Given the description of an element on the screen output the (x, y) to click on. 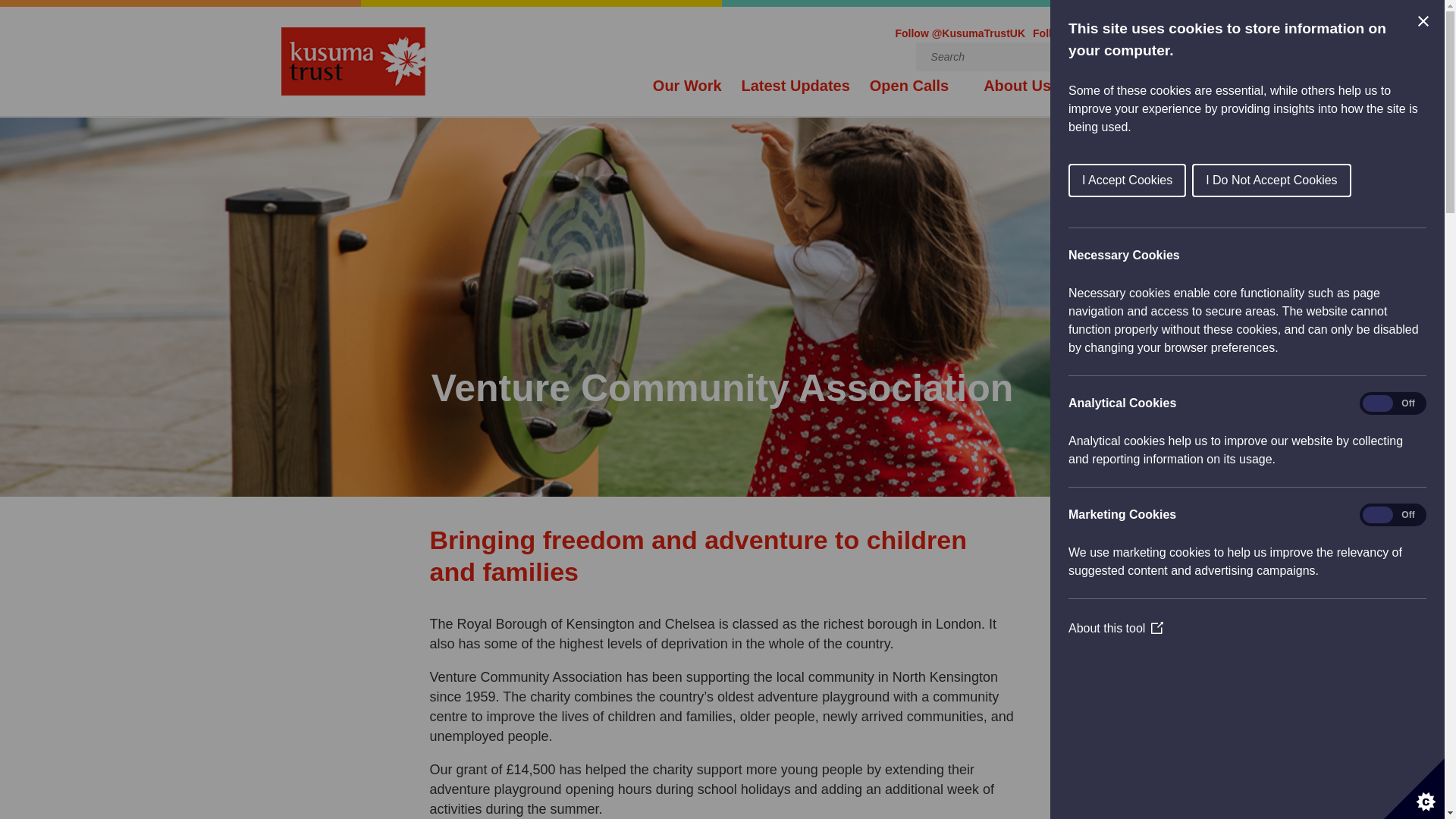
Open Calls (916, 98)
Our Work (687, 98)
About Us (1024, 98)
Contact Us (1126, 98)
Latest Updates (795, 98)
